Given the description of an element on the screen output the (x, y) to click on. 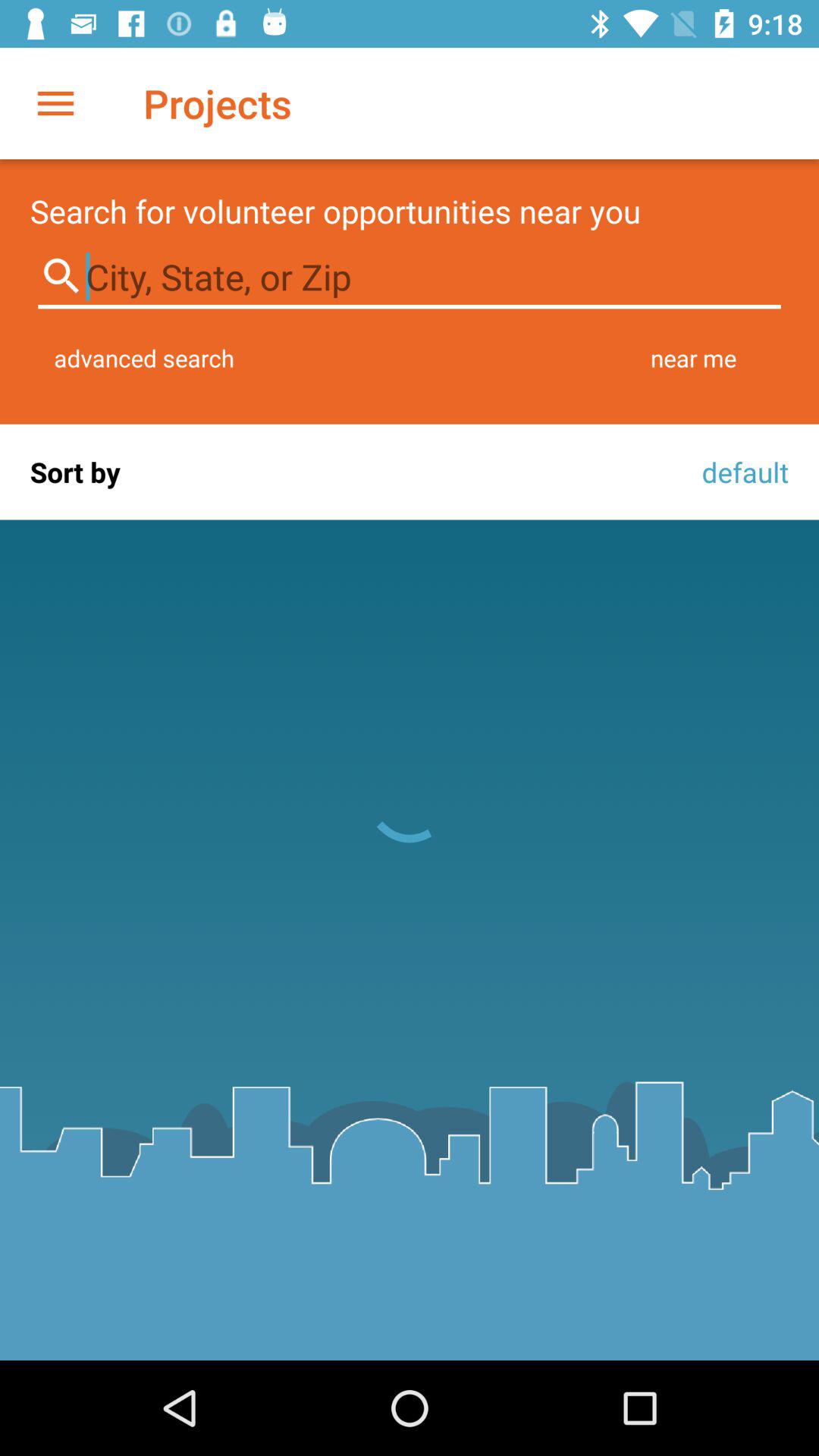
open menu (55, 103)
